Given the description of an element on the screen output the (x, y) to click on. 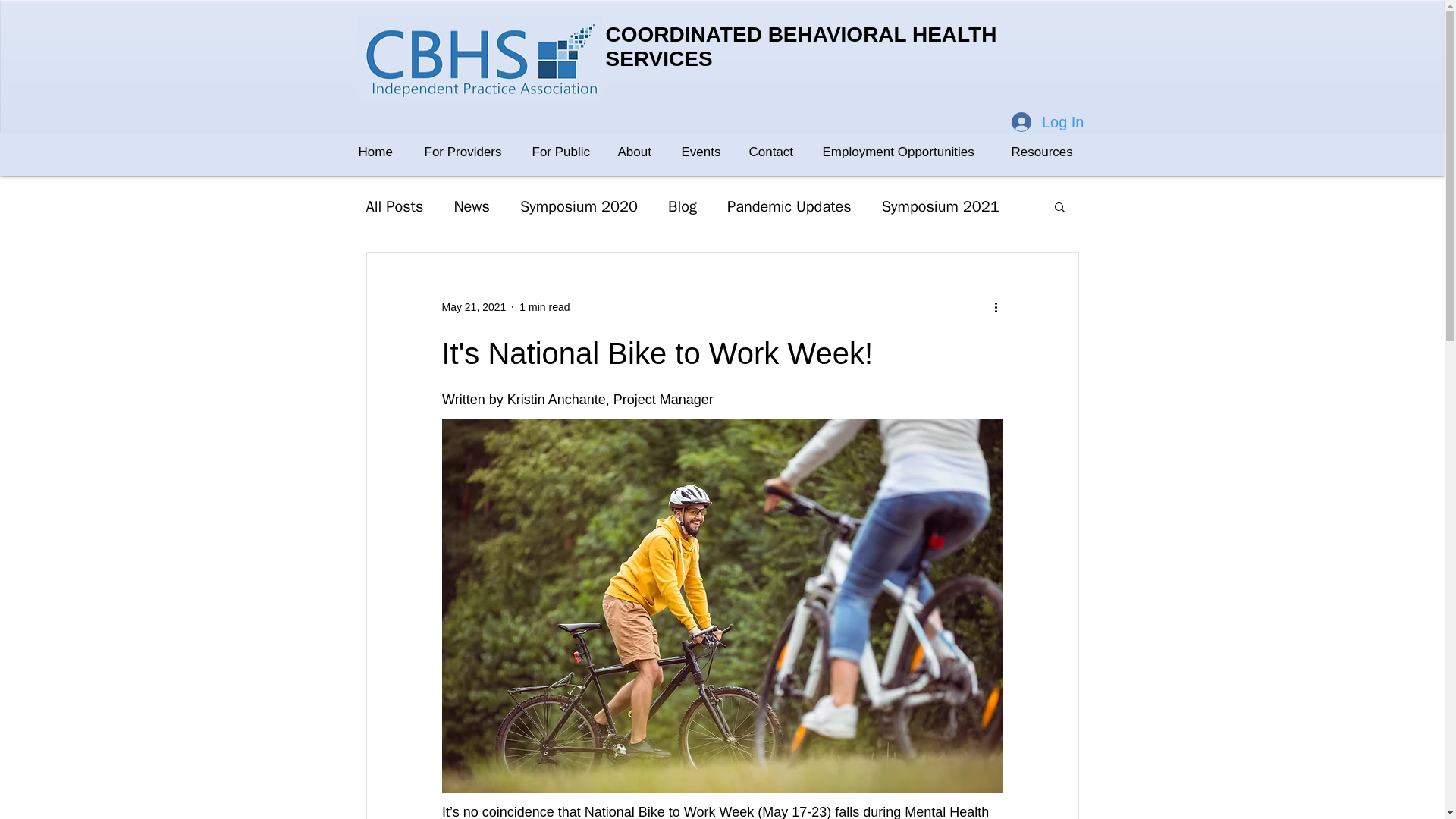
Symposium 2020 (578, 205)
Pandemic Updates (788, 205)
All Posts (394, 205)
Home (383, 152)
Resources (1049, 152)
Events (706, 152)
For Providers (470, 152)
For Public (567, 152)
News (470, 205)
Blog (682, 205)
COORDINATED BEHAVIORAL HEALTH SERVICES (800, 46)
1 min read (544, 306)
Symposium 2021 (940, 205)
Employment Opportunities (908, 152)
Log In (1047, 122)
